Given the description of an element on the screen output the (x, y) to click on. 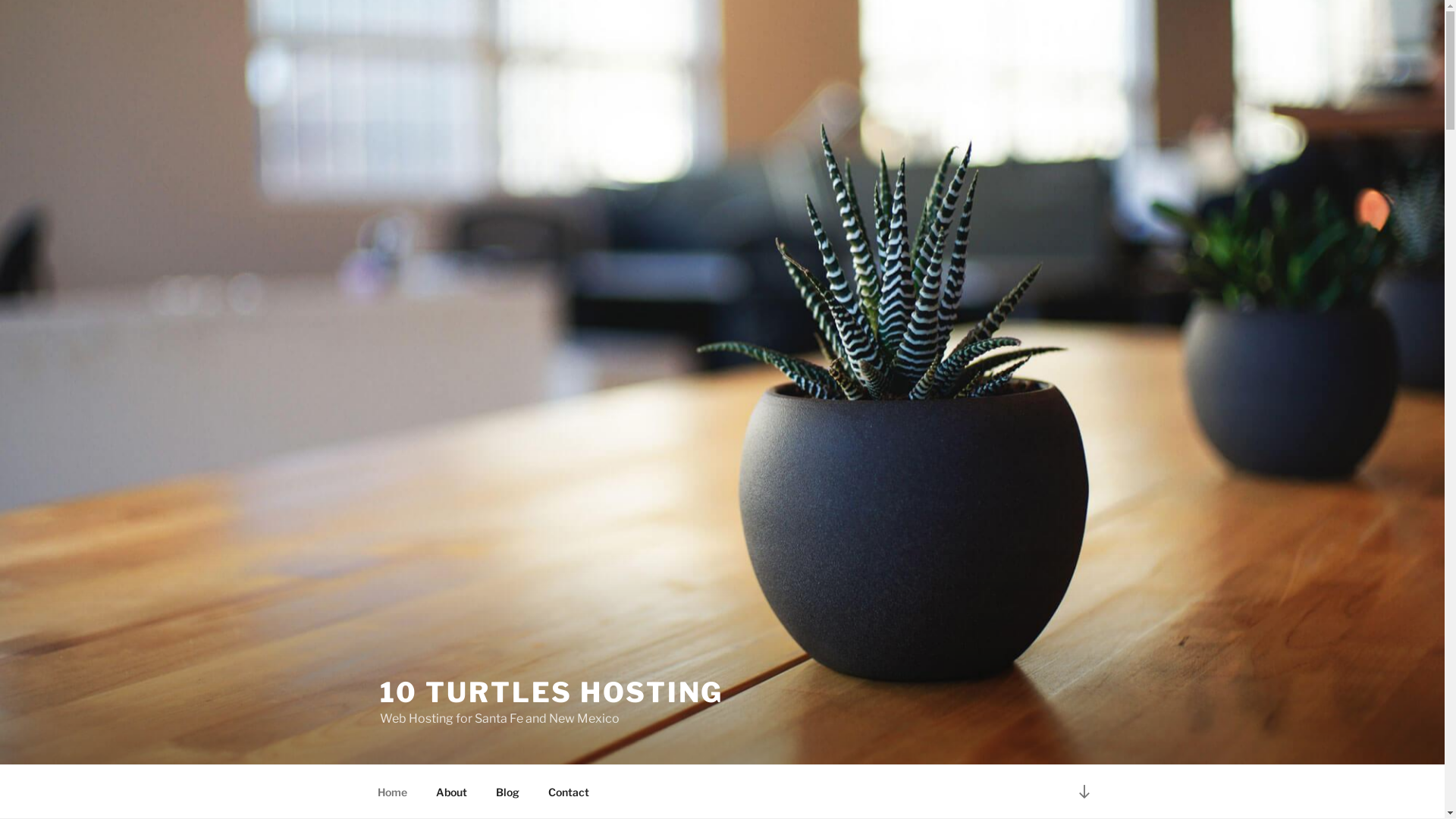
Home Element type: text (392, 791)
Contact Element type: text (568, 791)
10 TURTLES HOSTING Element type: text (551, 692)
Scroll down to content Element type: text (1083, 790)
Skip to content Element type: text (0, 0)
Blog Element type: text (507, 791)
About Element type: text (451, 791)
